Given the description of an element on the screen output the (x, y) to click on. 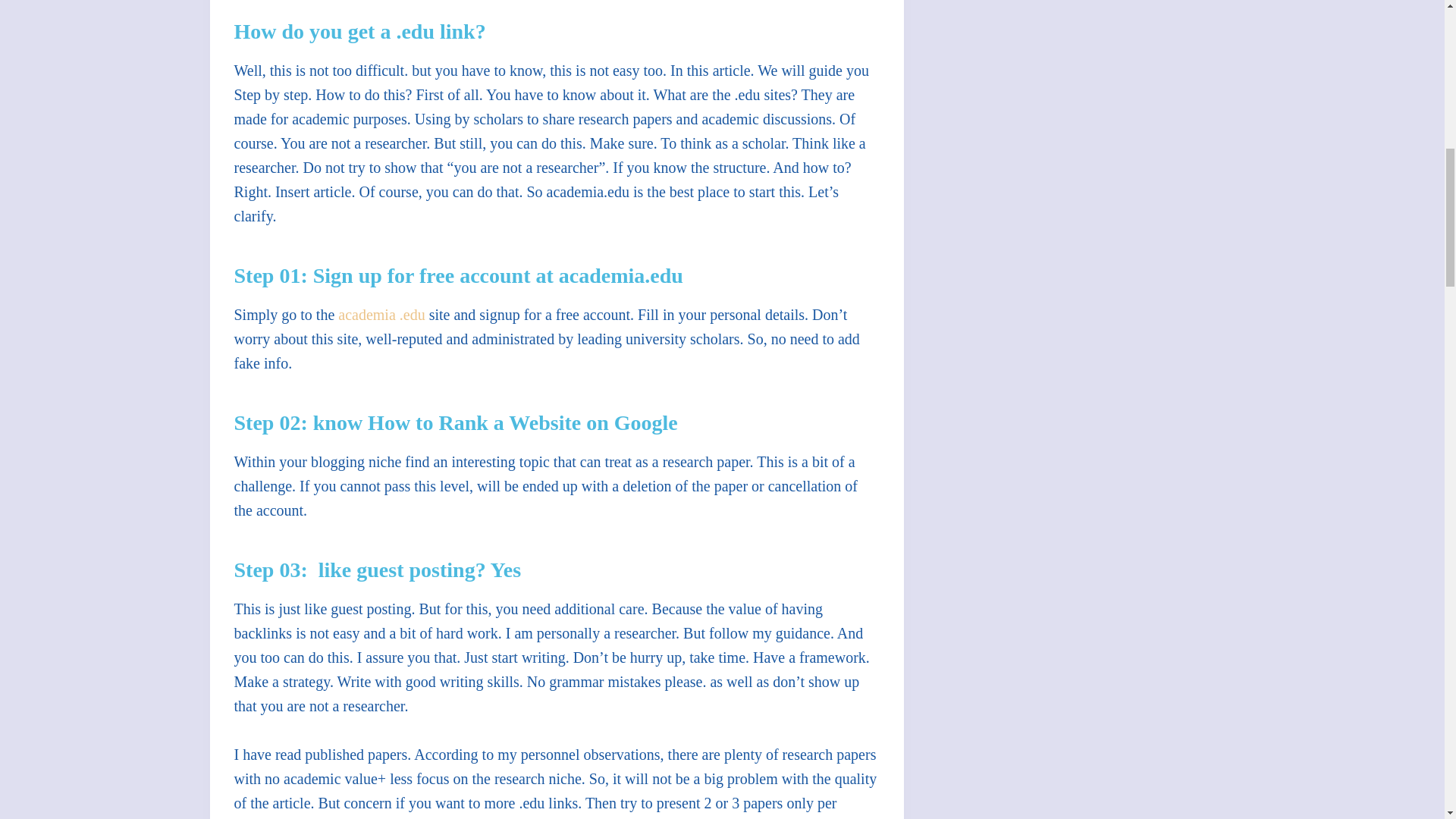
academia .edu (381, 314)
